Given the description of an element on the screen output the (x, y) to click on. 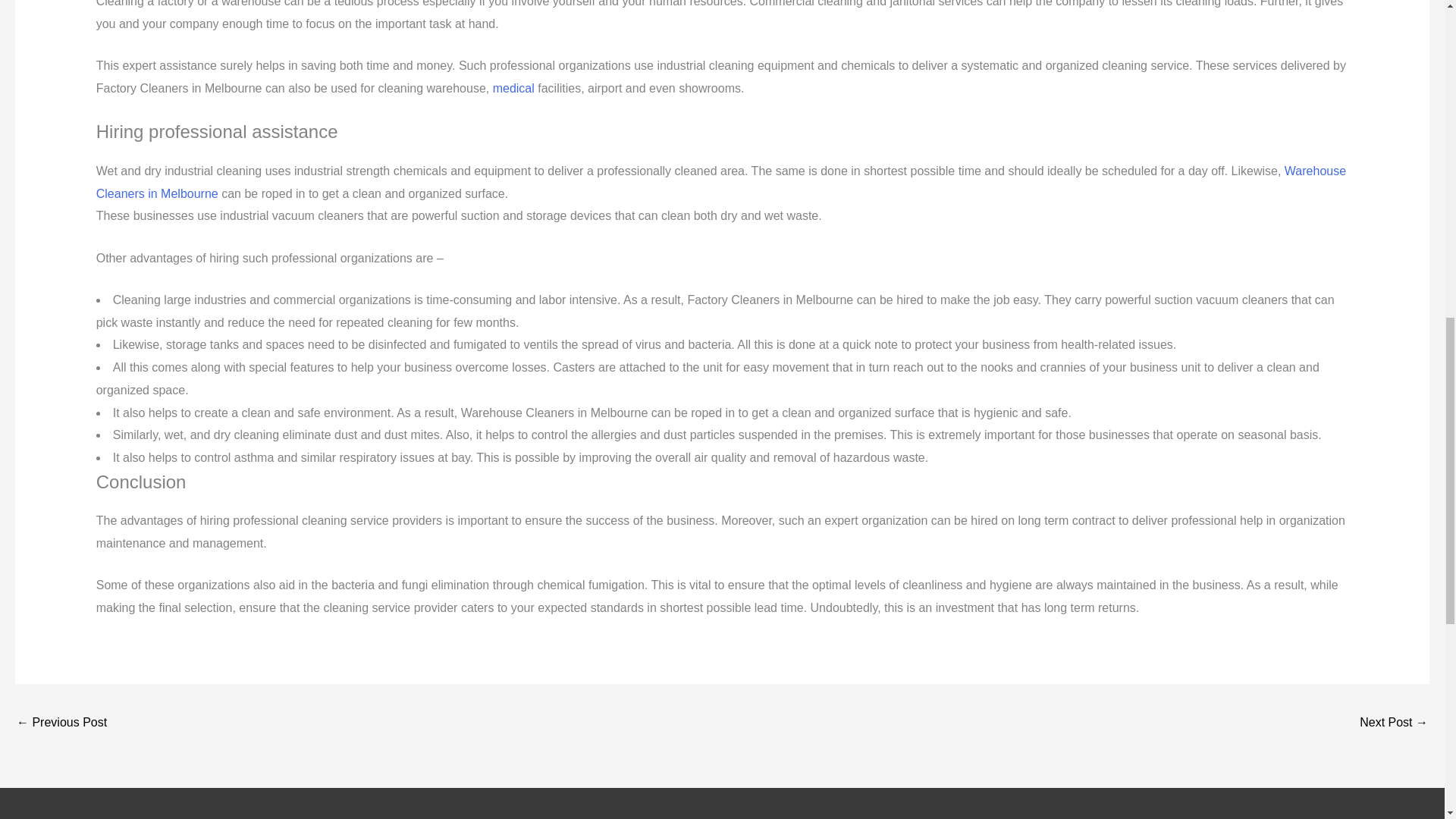
Warehouse Cleaners in Melbourne (720, 181)
medical (513, 88)
